Given the description of an element on the screen output the (x, y) to click on. 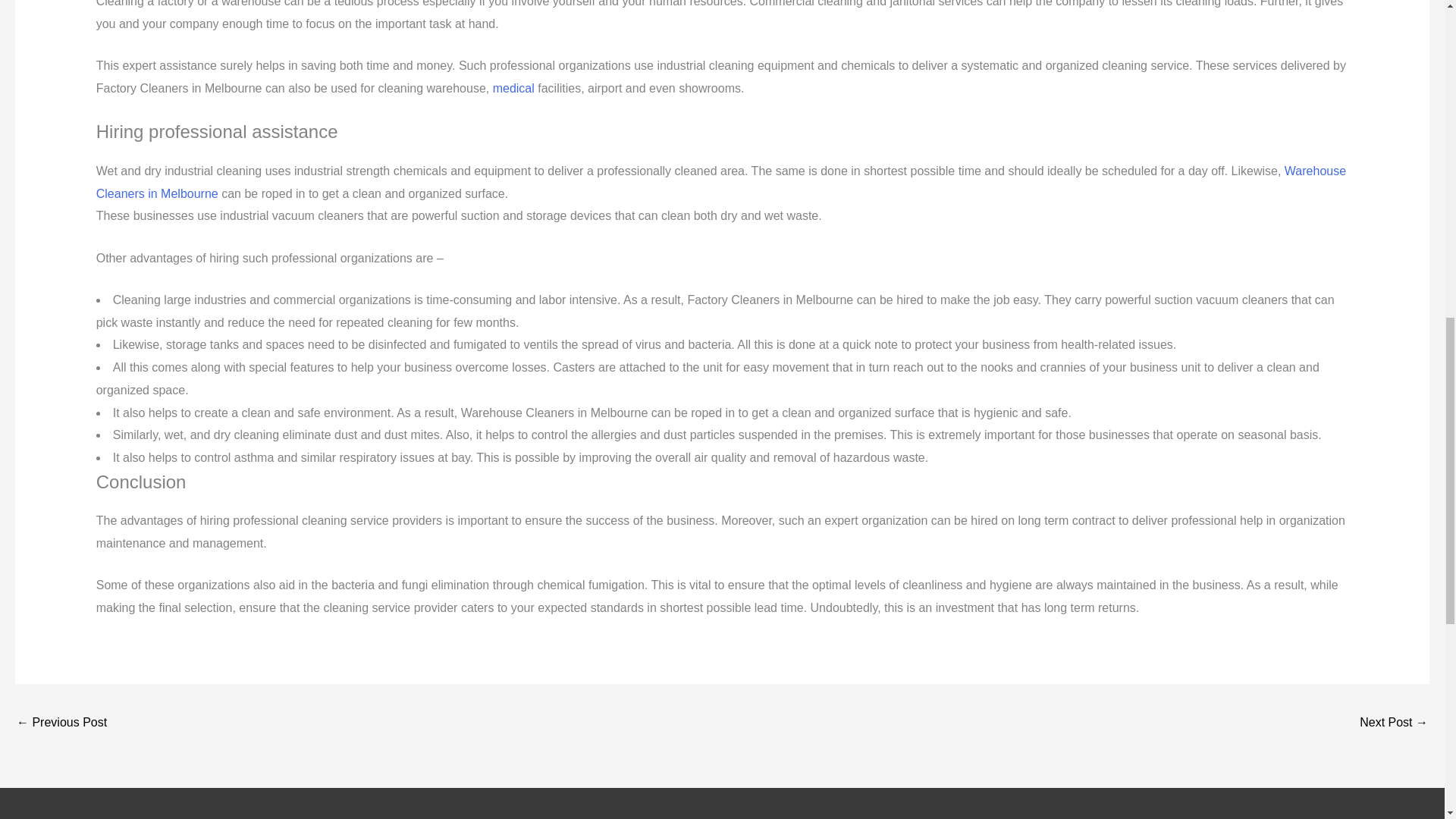
Warehouse Cleaners in Melbourne (720, 181)
medical (513, 88)
